Given the description of an element on the screen output the (x, y) to click on. 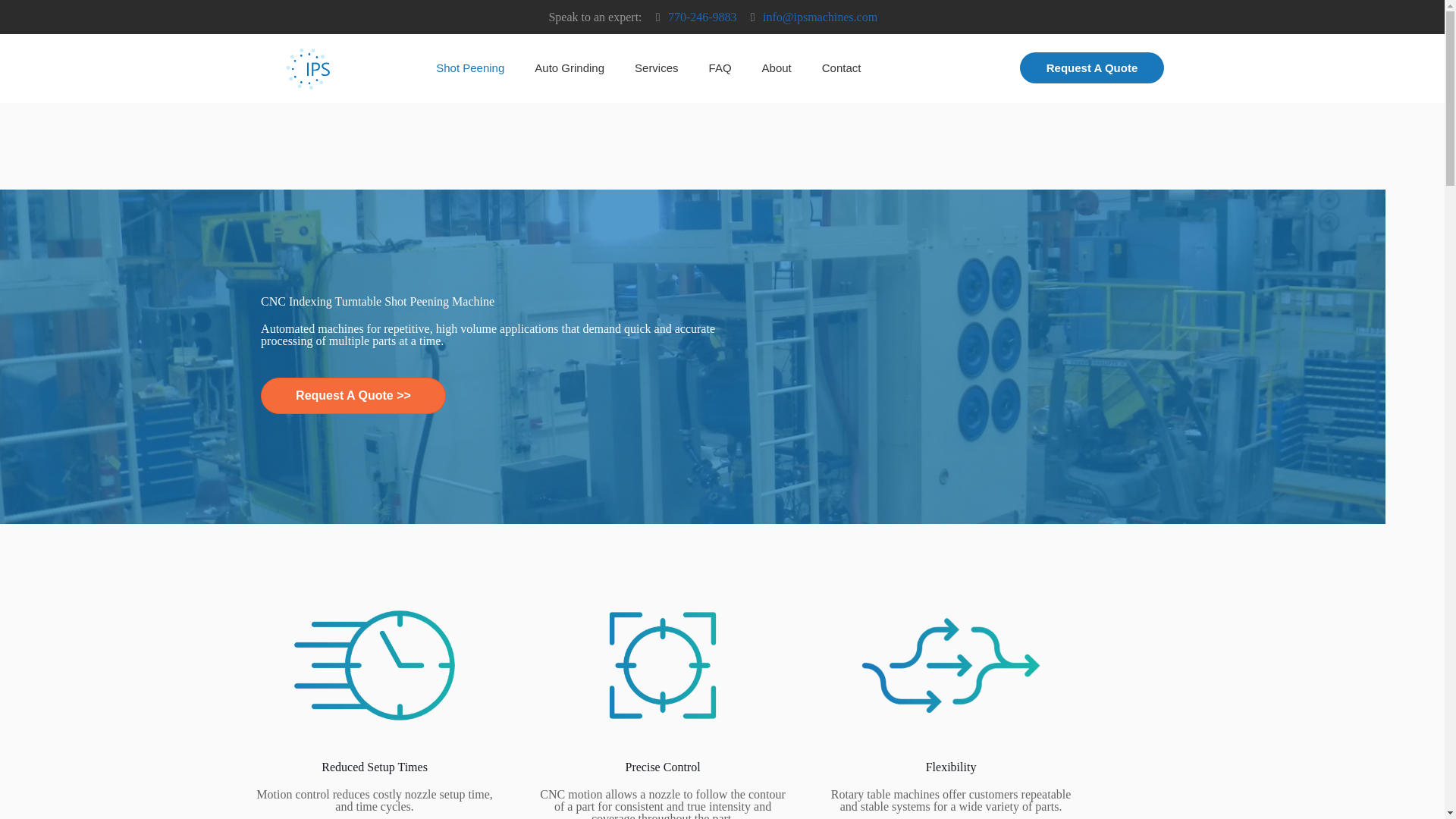
770-246-9883 (702, 16)
Shot Peening (469, 68)
Services (657, 68)
Auto Grinding (569, 68)
Contact (841, 68)
Request A Quote (1092, 67)
